Given the description of an element on the screen output the (x, y) to click on. 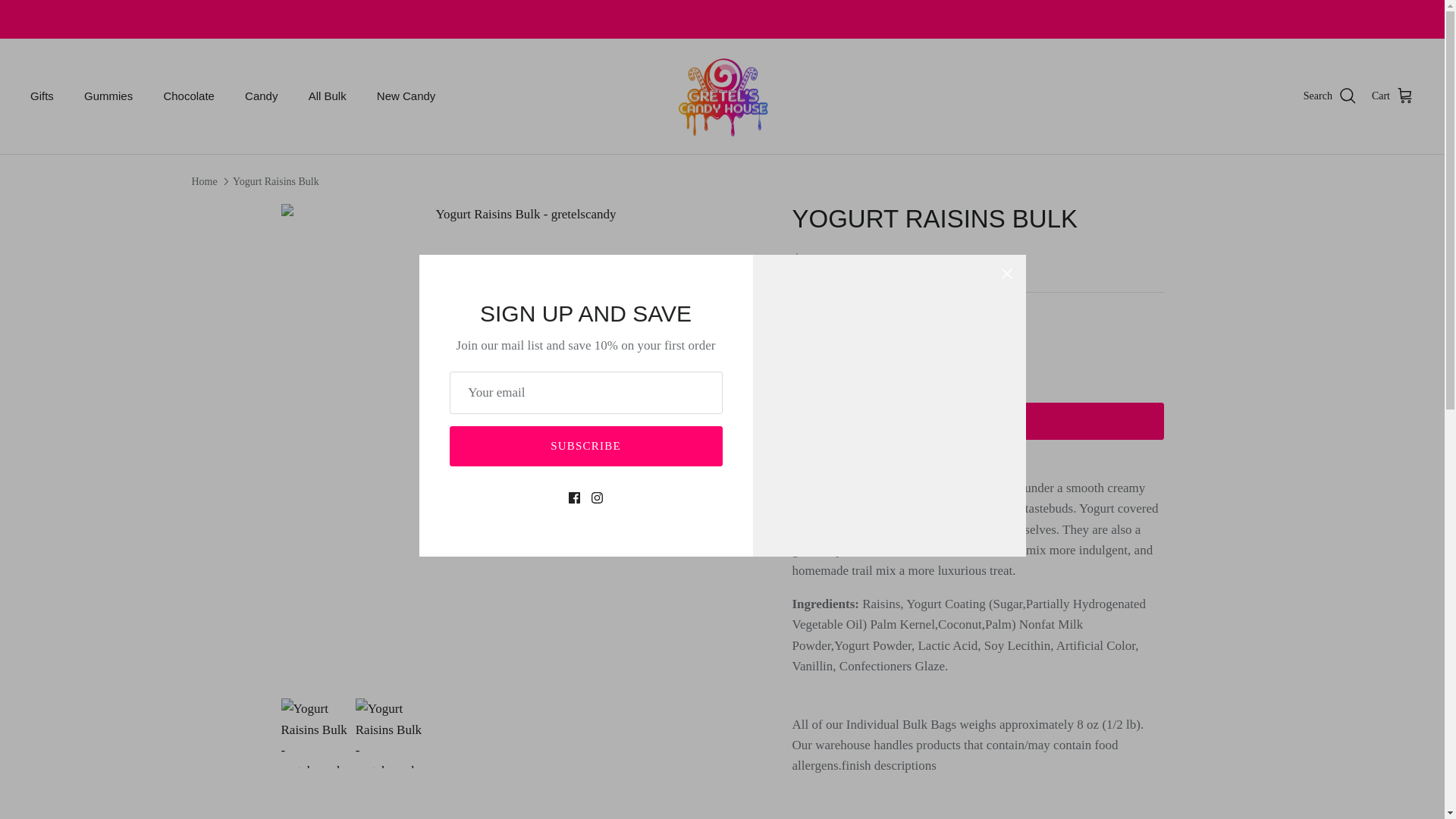
Cart (1392, 96)
Candy (261, 96)
Gifts (41, 96)
New Candy (405, 96)
1 (853, 353)
Gummies (108, 96)
Plus (897, 353)
Search (1329, 96)
RIGHT (741, 442)
Gretel's Candy (721, 96)
